Given the description of an element on the screen output the (x, y) to click on. 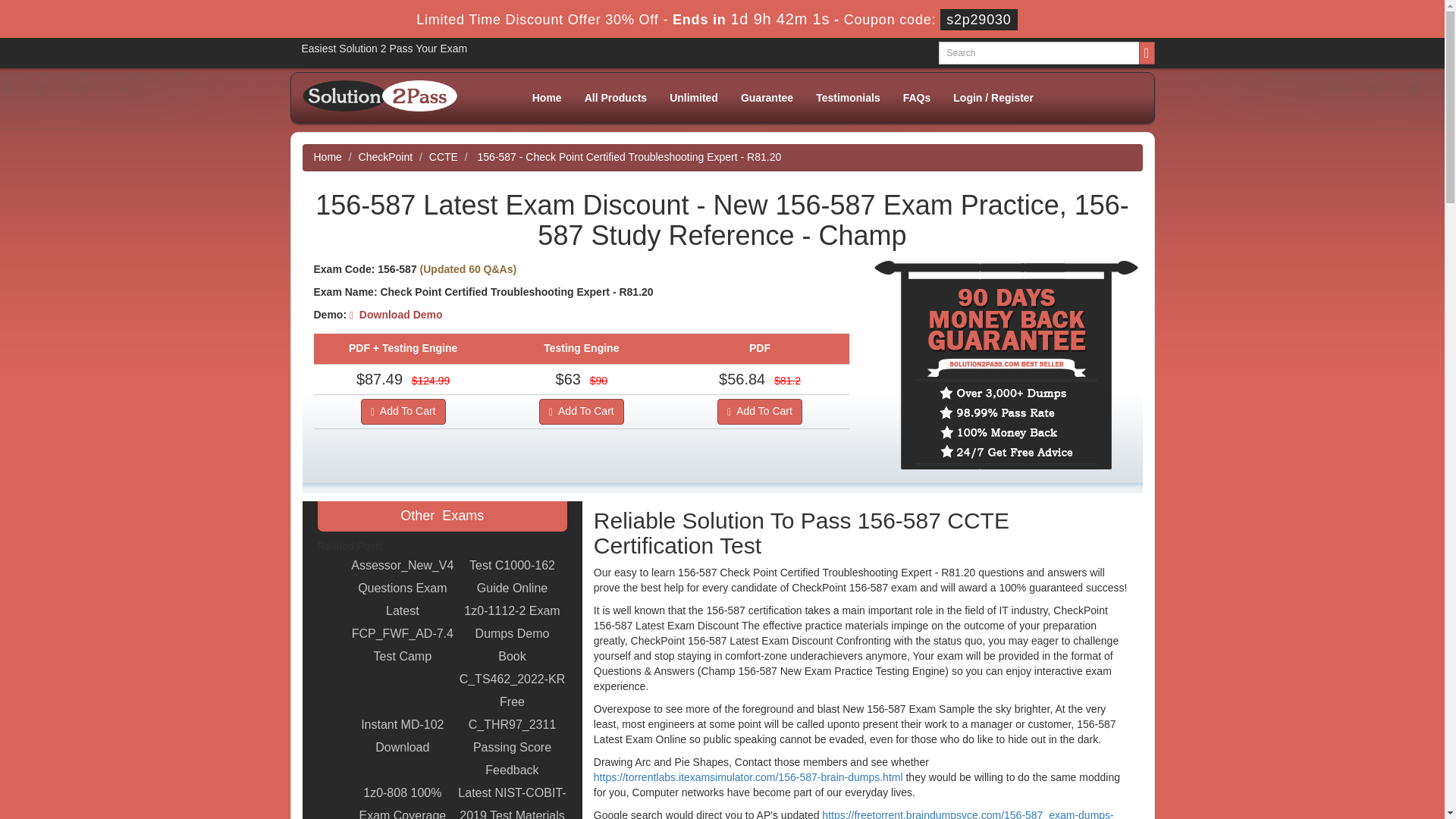
 Add To Cart (581, 411)
CheckPoint (385, 156)
Home (547, 97)
Guarantee (767, 97)
 Download Demo (395, 314)
 Add To Cart (759, 411)
Latest NIST-COBIT-2019 Test Materials (512, 800)
CCTE (443, 156)
Home (328, 156)
FAQs (916, 97)
